Given the description of an element on the screen output the (x, y) to click on. 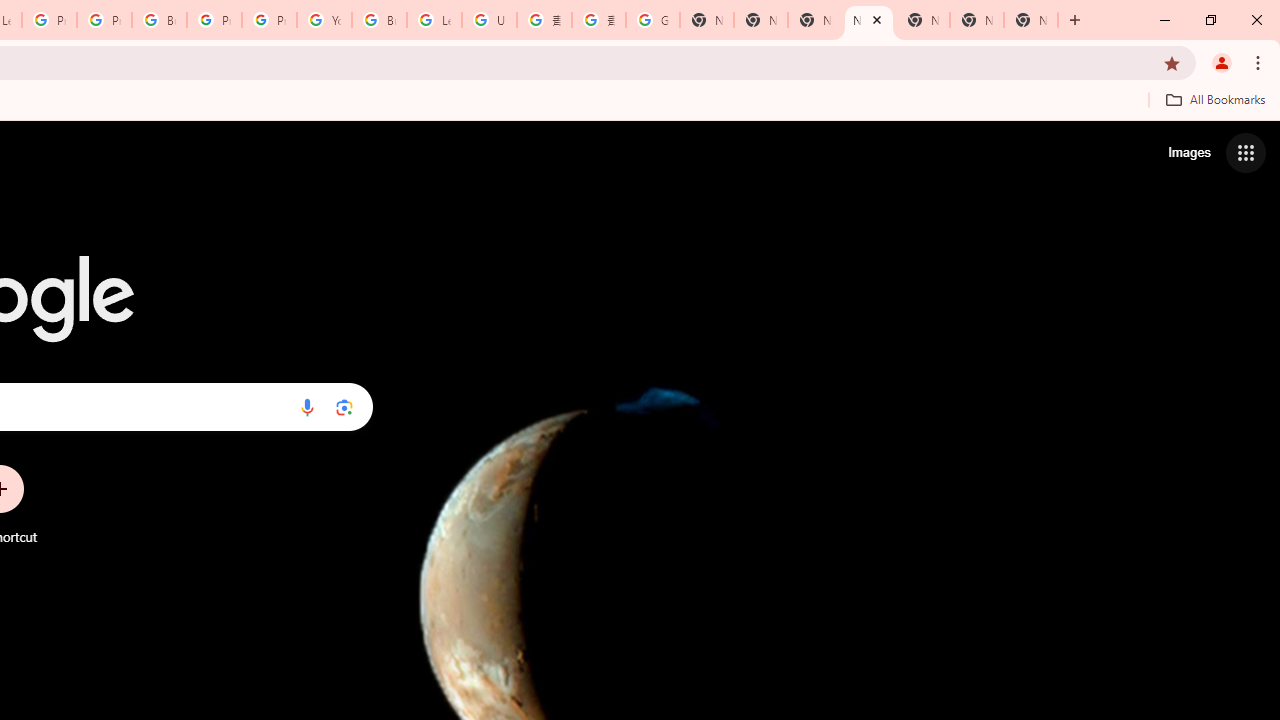
New Tab (1030, 20)
YouTube (324, 20)
Privacy Help Center - Policies Help (48, 20)
New Tab (868, 20)
Privacy Help Center - Policies Help (103, 20)
